Given the description of an element on the screen output the (x, y) to click on. 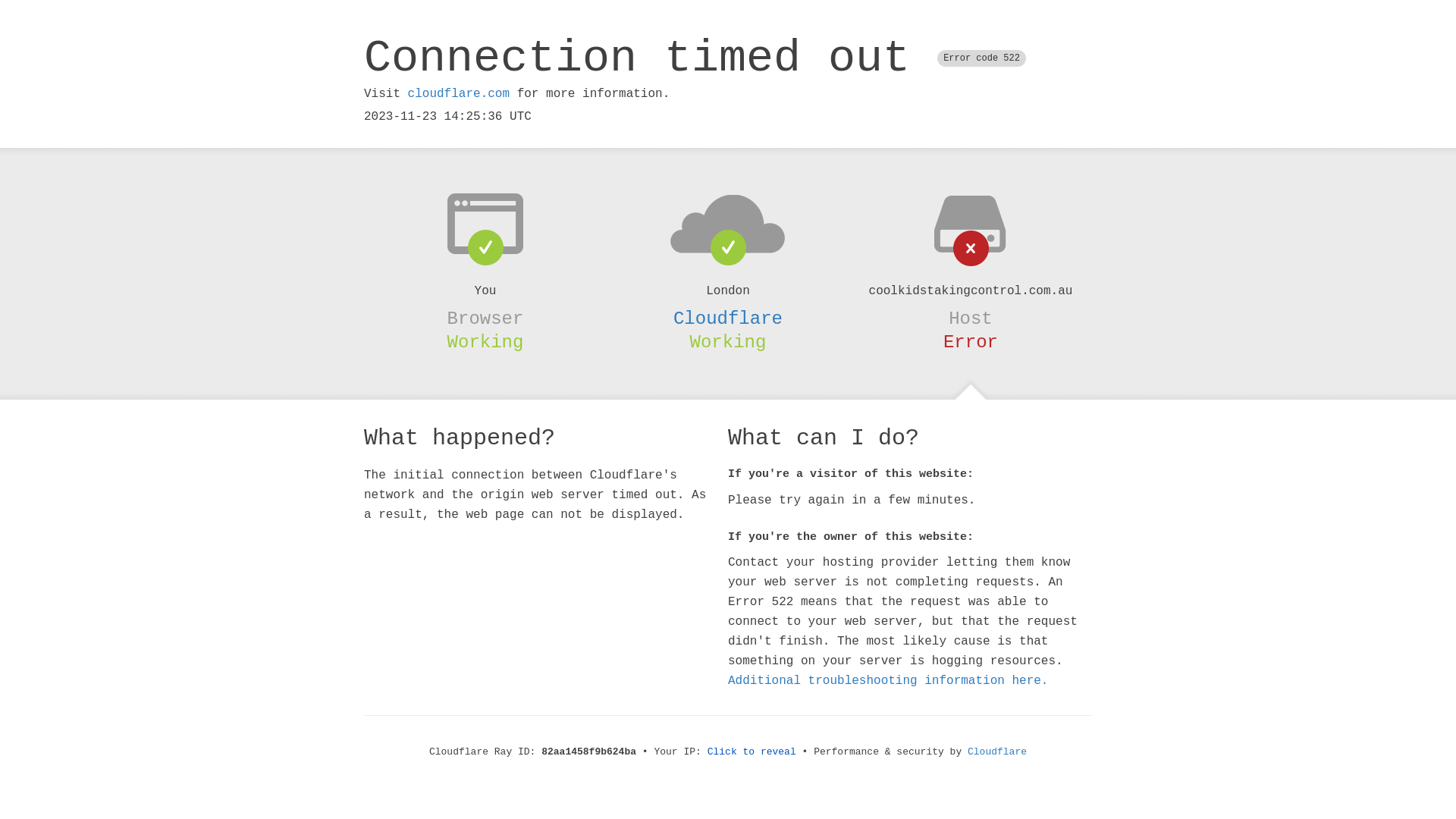
Cloudflare Element type: text (996, 751)
Click to reveal Element type: text (751, 751)
Additional troubleshooting information here. Element type: text (888, 680)
cloudflare.com Element type: text (458, 93)
Cloudflare Element type: text (727, 318)
